Given the description of an element on the screen output the (x, y) to click on. 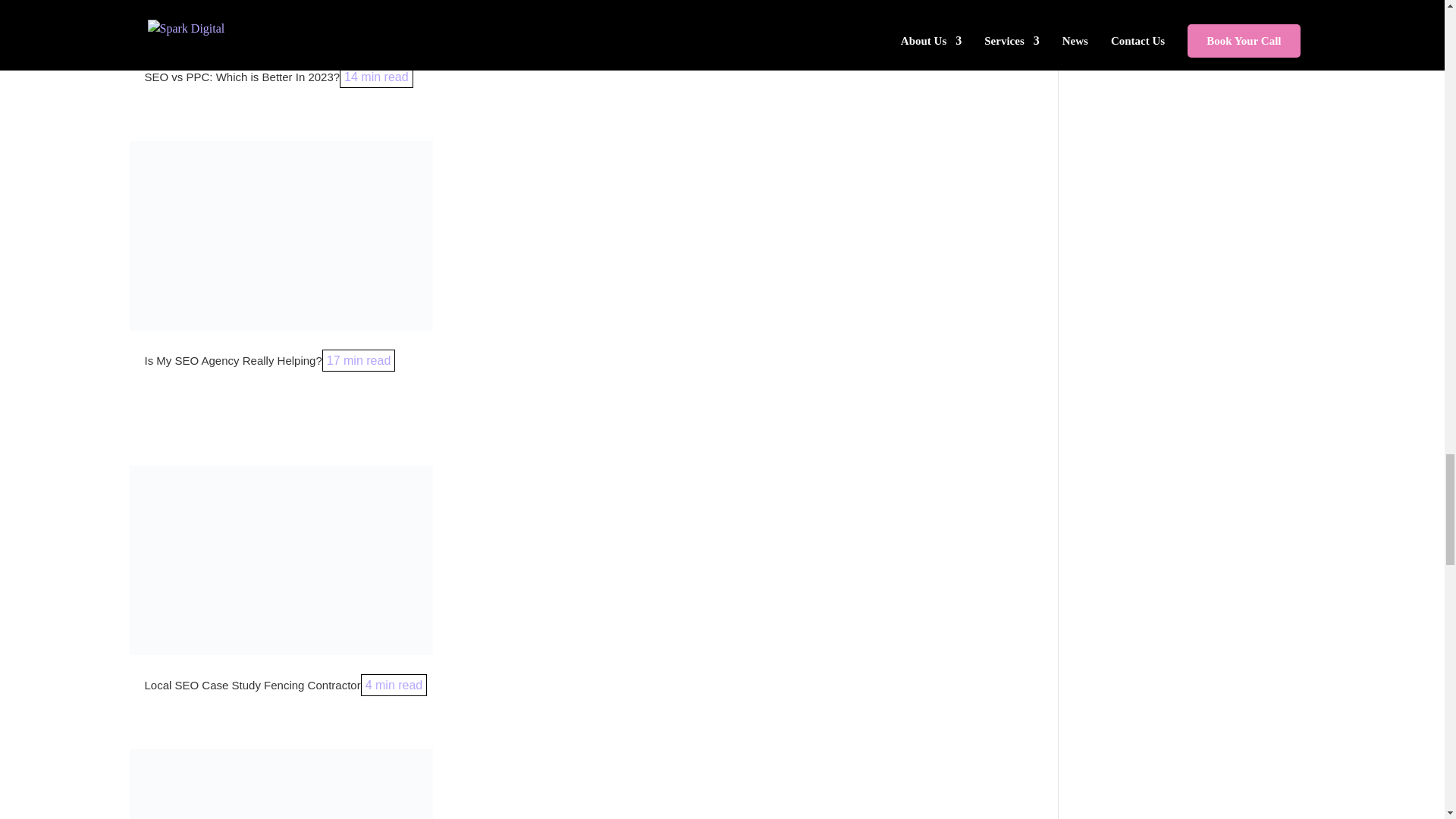
Is My SEO Agency Really Helping?17 min read (269, 360)
Local SEO Case Study Fencing Contractor4 min read (285, 685)
SEO vs PPC: Which is Better In 2023?14 min read (278, 76)
